Given the description of an element on the screen output the (x, y) to click on. 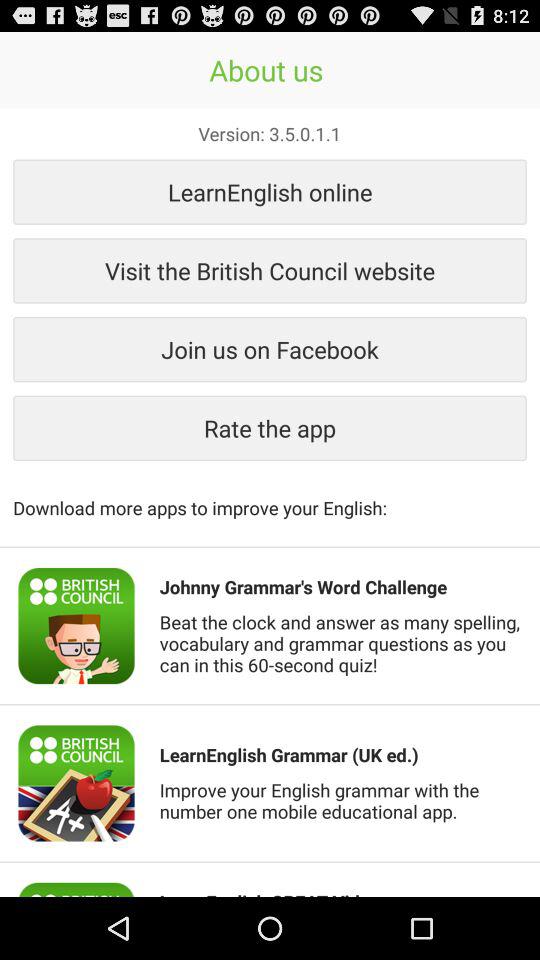
press item below version 3 5 (269, 191)
